Given the description of an element on the screen output the (x, y) to click on. 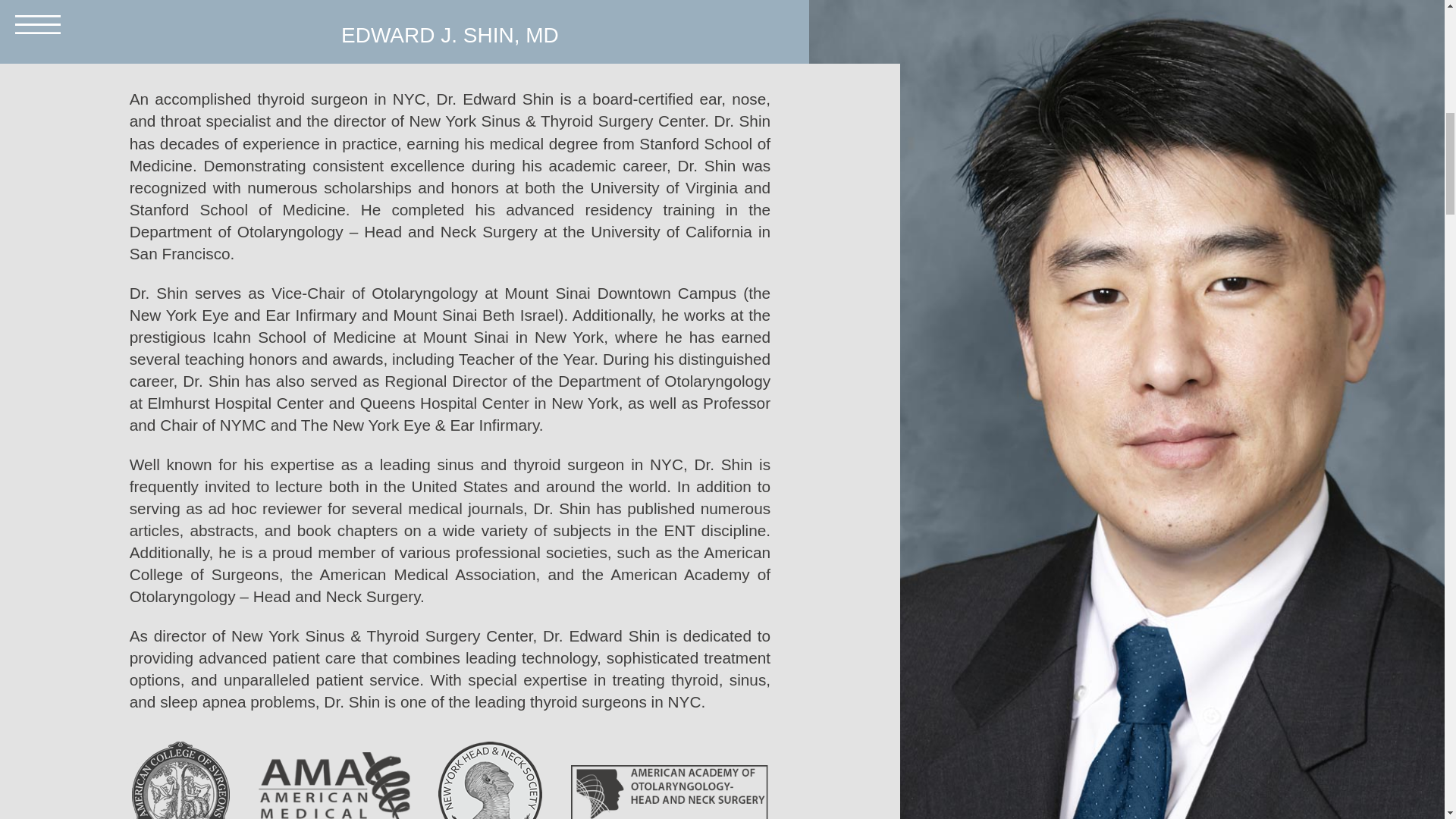
American Medical Association (334, 785)
American College Of Surgeons (181, 780)
